Given the description of an element on the screen output the (x, y) to click on. 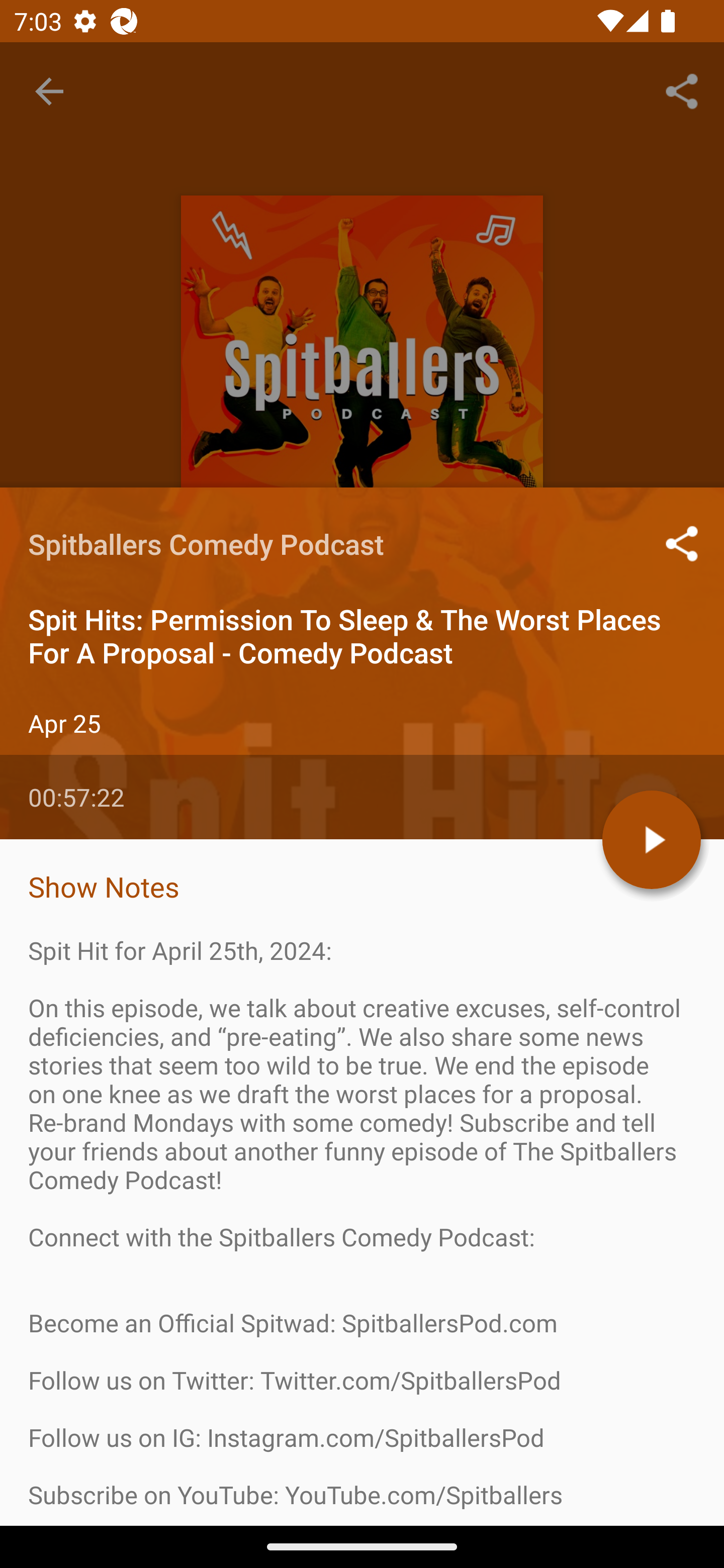
Picture Get out of your head Motivational Talks (316, 1472)
